Given the description of an element on the screen output the (x, y) to click on. 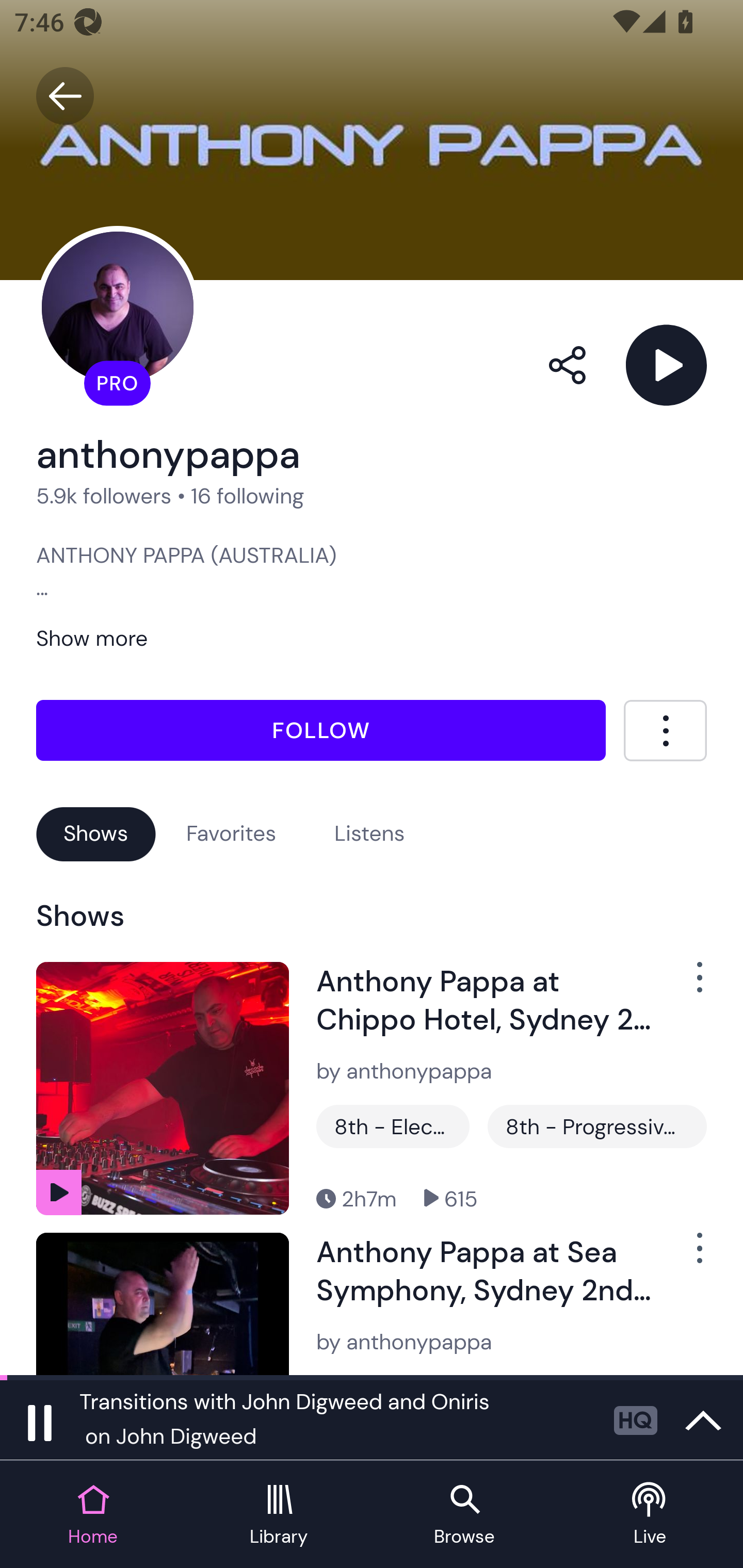
5.9k followers (103, 495)
16 following (247, 495)
Follow FOLLOW (320, 729)
More Menu (665, 730)
Shows (95, 832)
Favorites (231, 832)
Listens (369, 832)
Show Options Menu Button (688, 984)
8th - Electronic (392, 1126)
8th - Progressive House (596, 1126)
Show Options Menu Button (688, 1255)
Home tab Home (92, 1515)
Library tab Library (278, 1515)
Browse tab Browse (464, 1515)
Live tab Live (650, 1515)
